Given the description of an element on the screen output the (x, y) to click on. 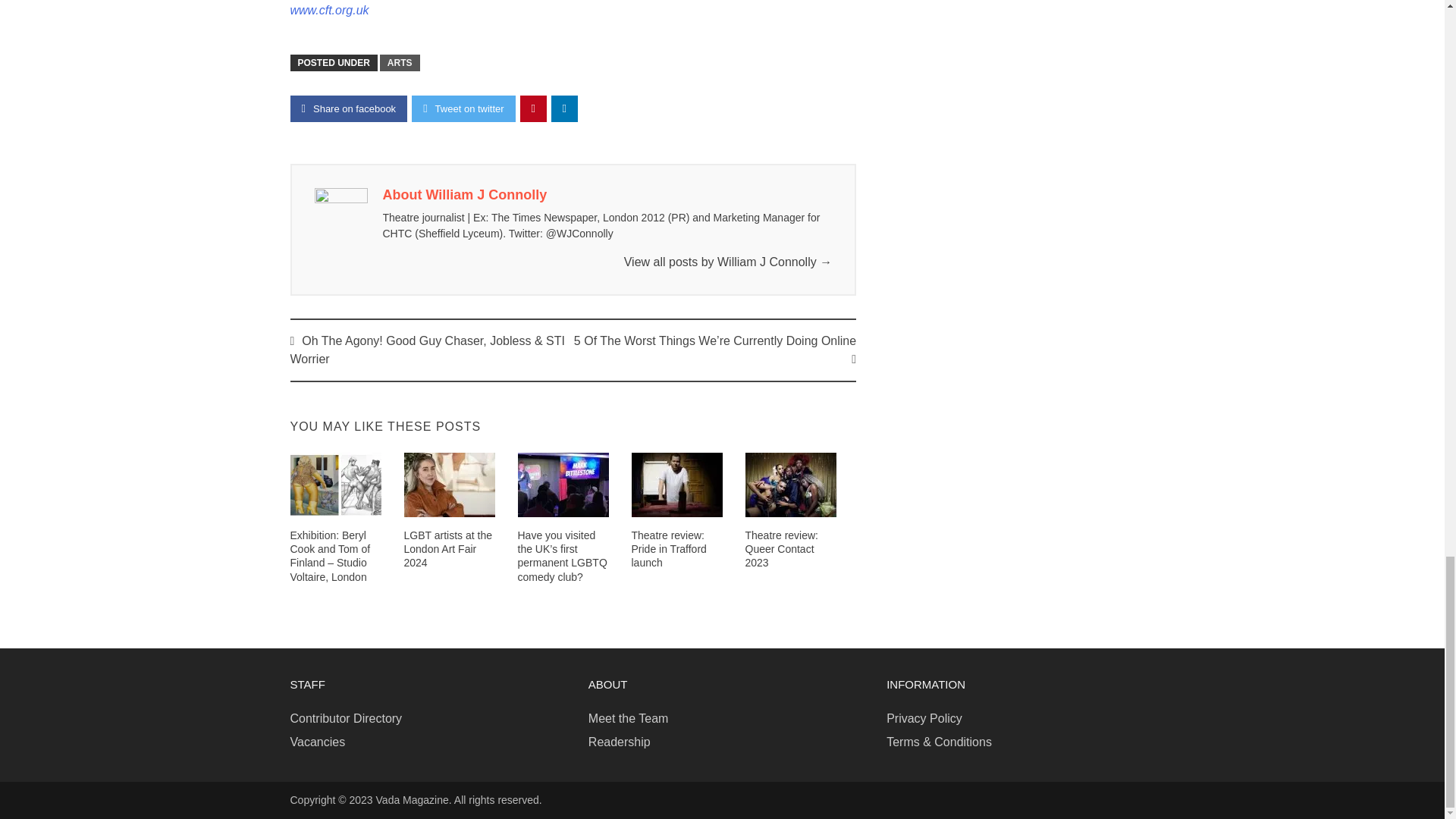
www.cft.org.uk (328, 10)
